Given the description of an element on the screen output the (x, y) to click on. 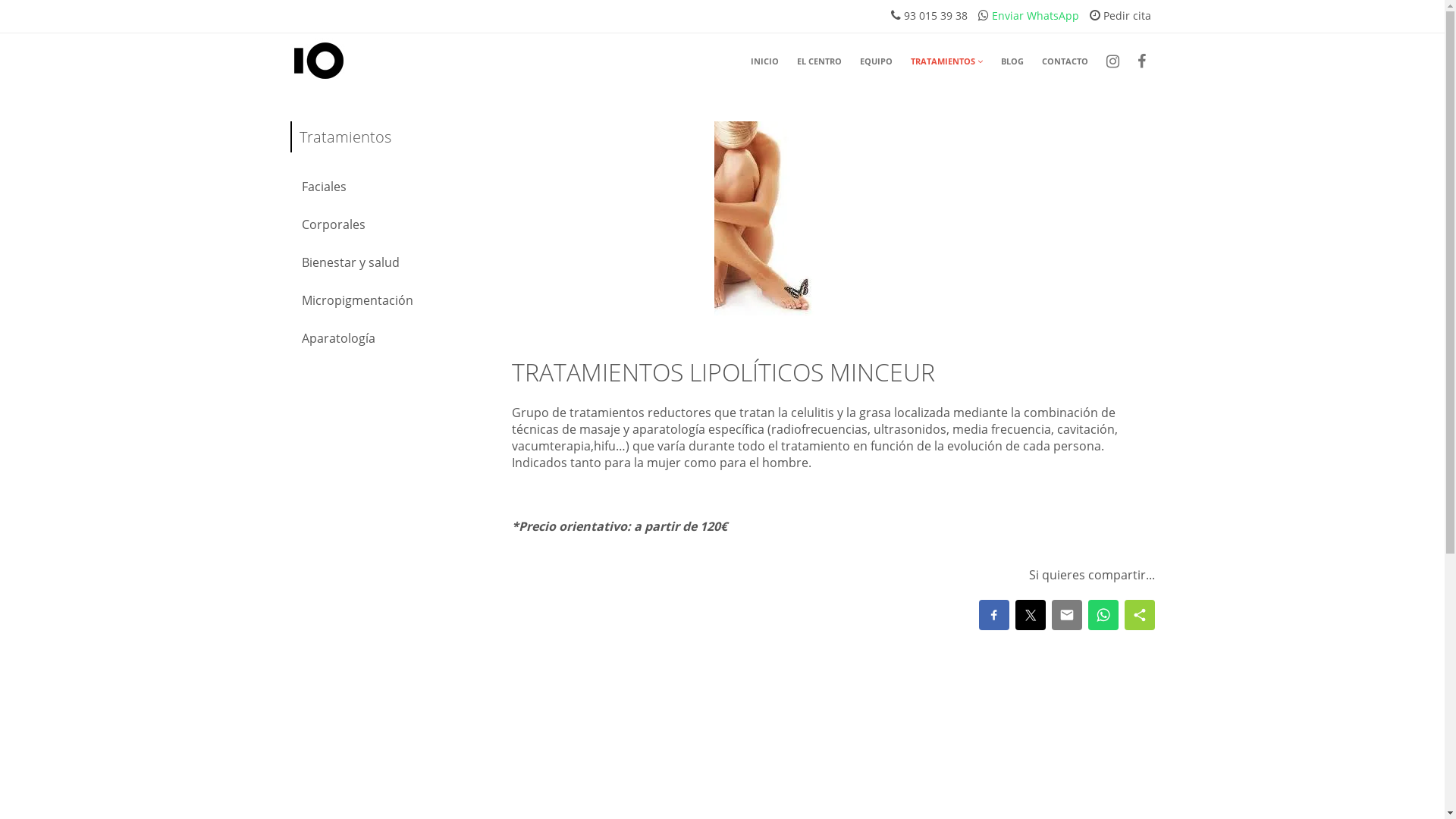
INICIO Element type: text (764, 60)
Corporales Element type: text (389, 224)
Faciales Element type: text (389, 186)
CONTACTO Element type: text (1064, 60)
Pedir cita Element type: text (1124, 15)
EL CENTRO Element type: text (818, 60)
Bienestar y salud Element type: text (389, 262)
TRATAMIENTOS Element type: text (945, 61)
EQUIPO Element type: text (875, 60)
93 015 39 38 Element type: text (933, 15)
BLOG Element type: text (1011, 60)
Enviar WhatsApp Element type: text (1033, 15)
